Given the description of an element on the screen output the (x, y) to click on. 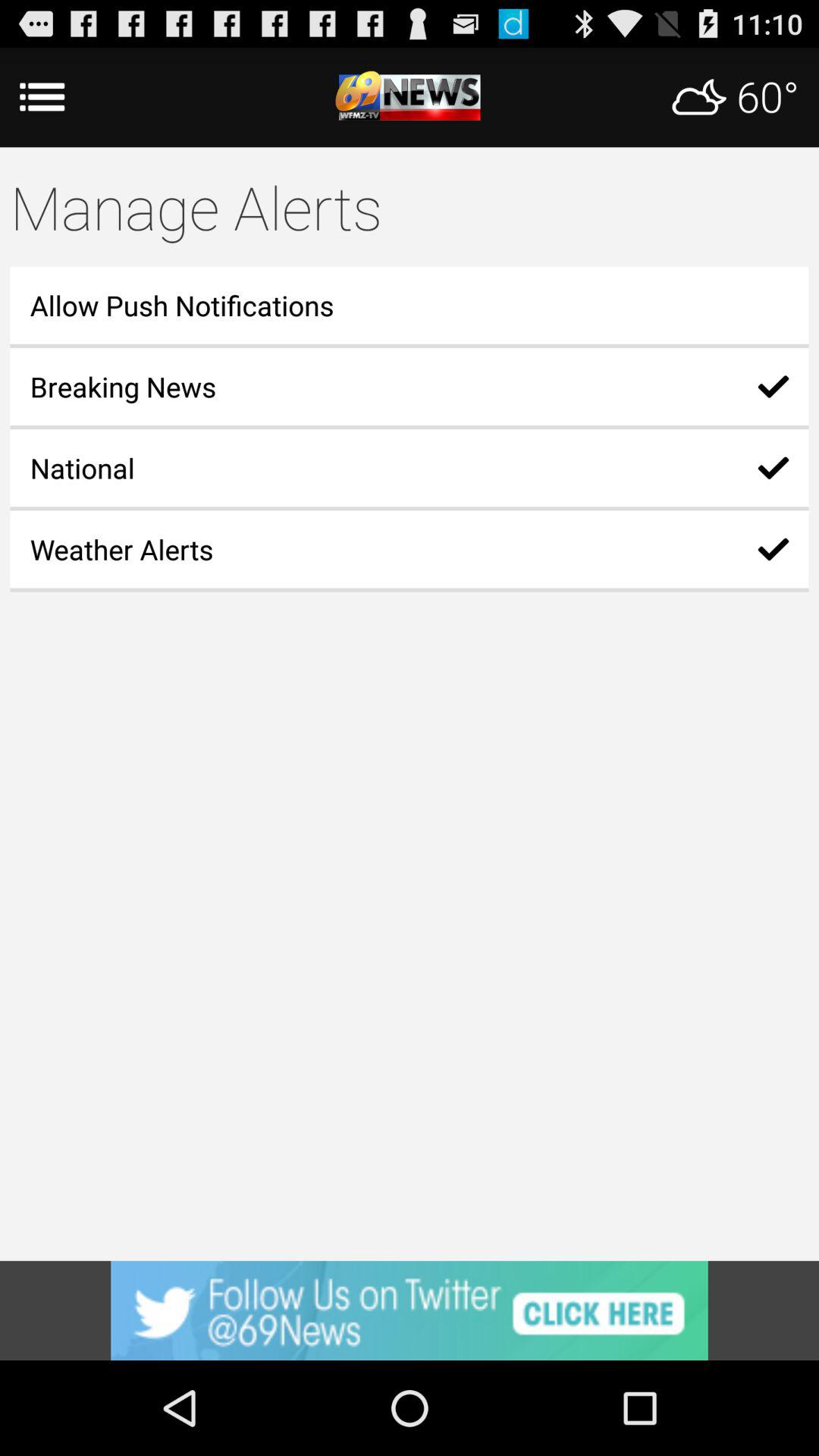
advertisement (409, 1310)
